Given the description of an element on the screen output the (x, y) to click on. 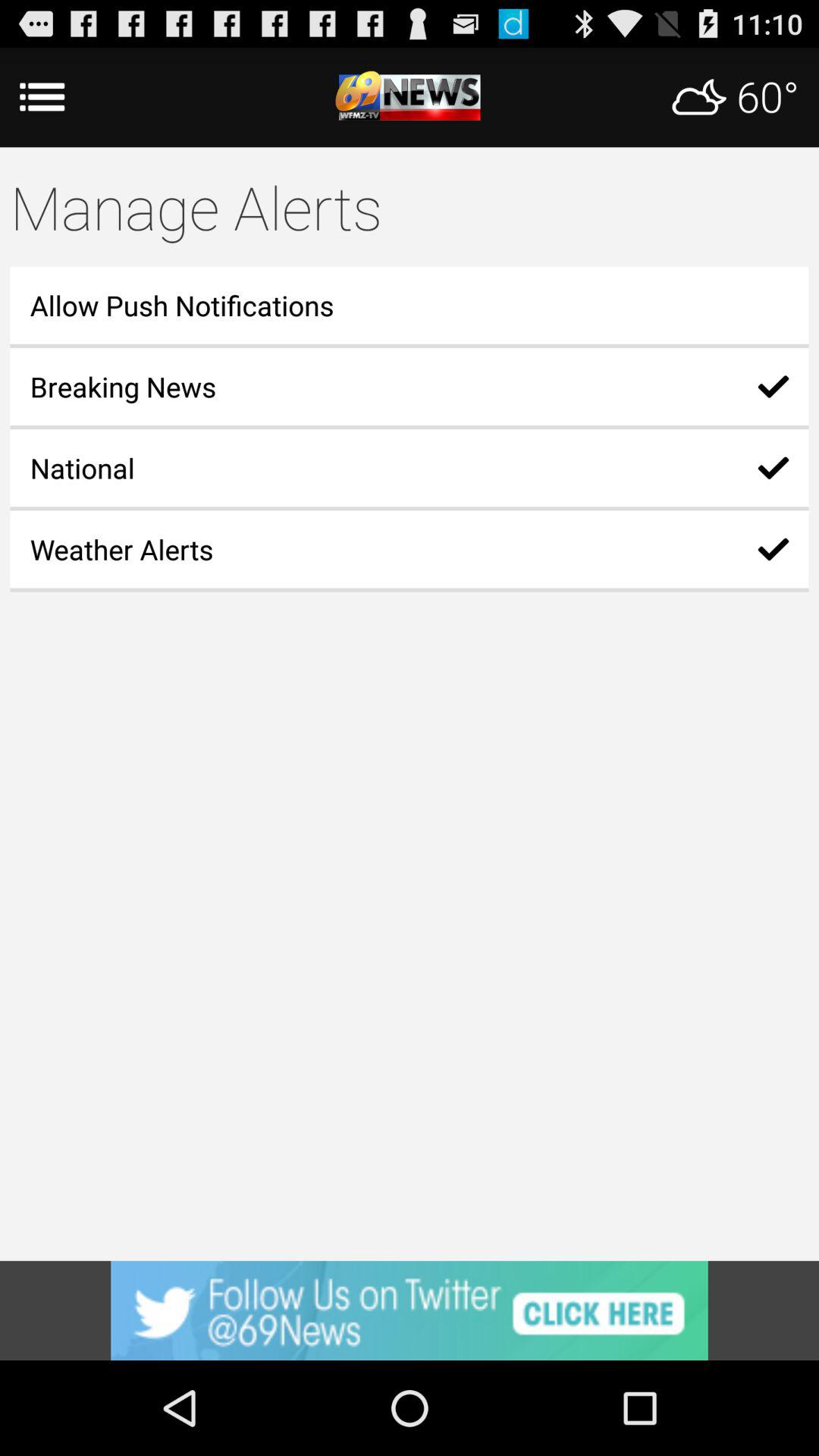
advertisement (409, 1310)
